Given the description of an element on the screen output the (x, y) to click on. 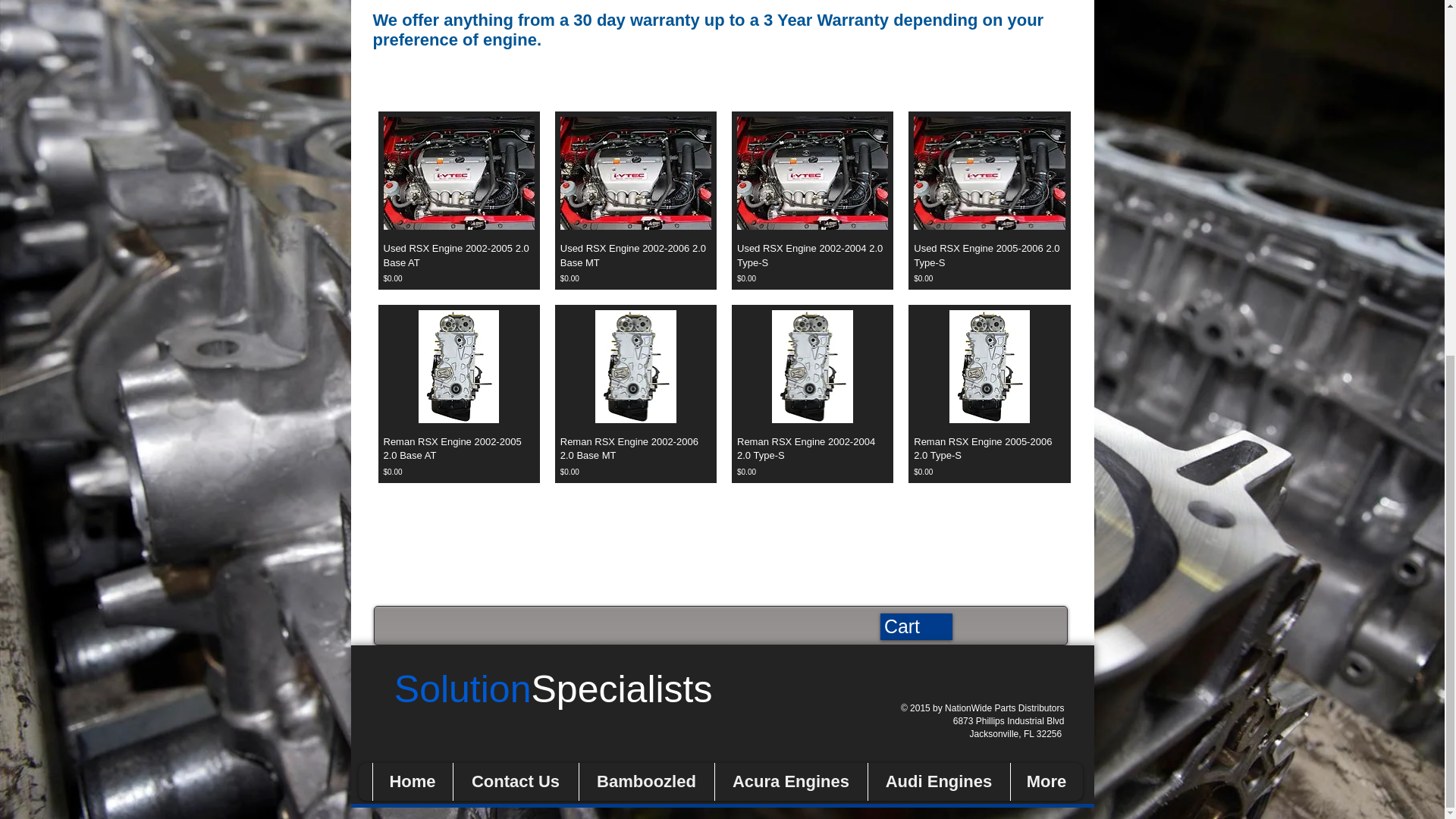
Cart (915, 626)
SolutionSpecialists (553, 699)
Home (411, 781)
Cart (915, 626)
